Given the description of an element on the screen output the (x, y) to click on. 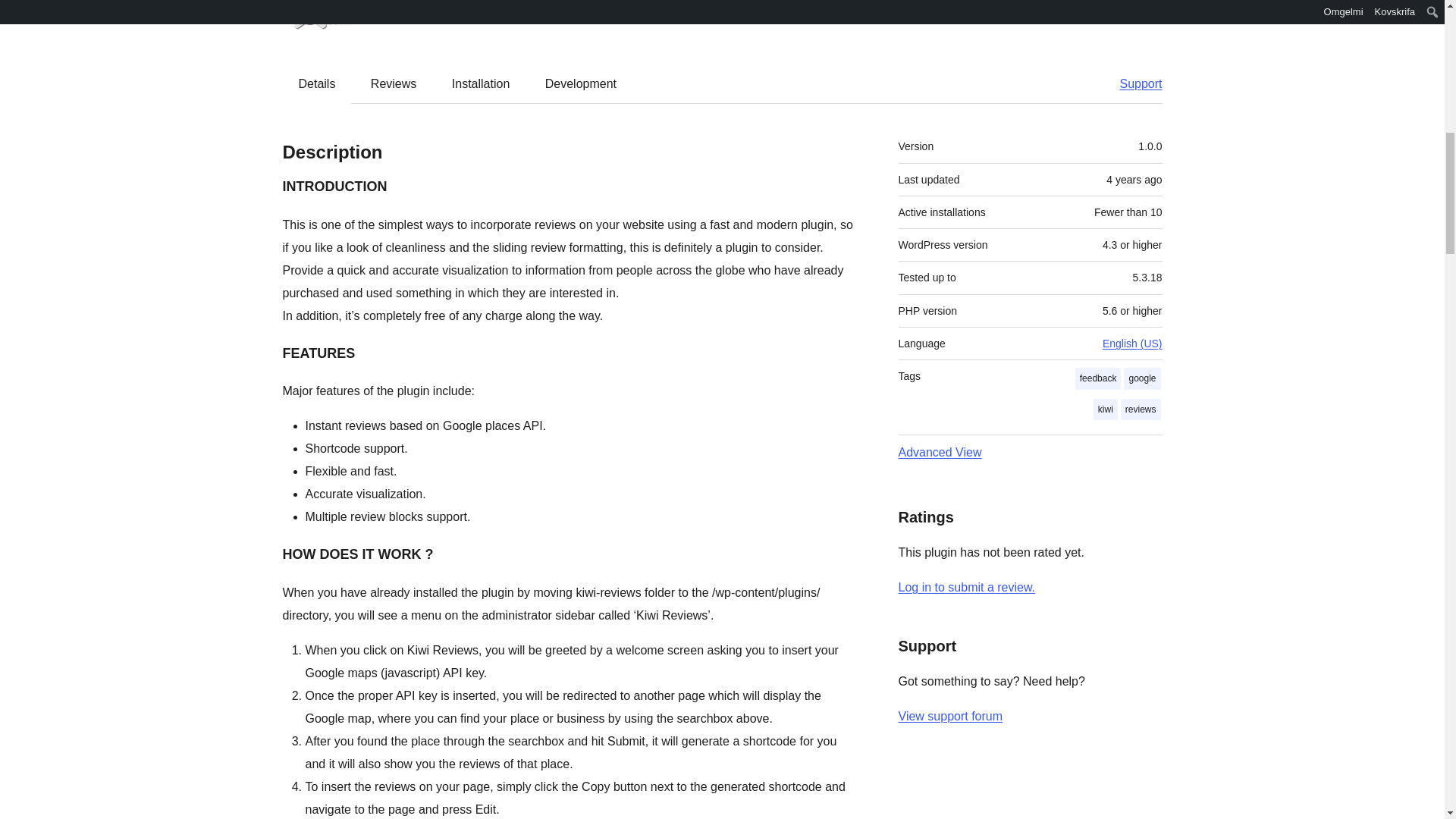
Log in to WordPress.org (966, 586)
Reviews (392, 84)
Download (1126, 10)
Development (580, 84)
Details (316, 84)
Kiwi Science (422, 16)
Installation (480, 84)
Support (1132, 84)
